Given the description of an element on the screen output the (x, y) to click on. 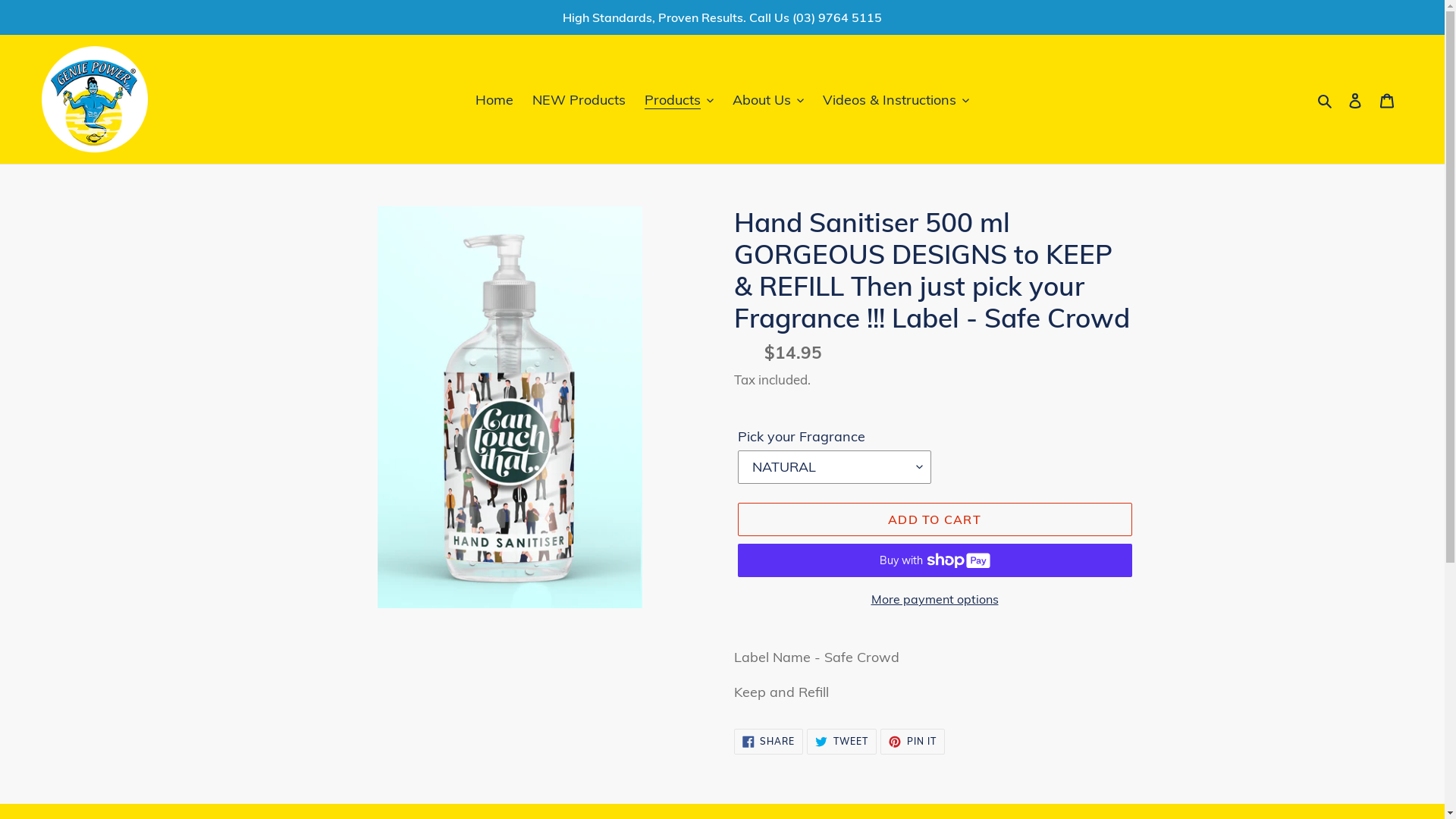
About Us Element type: text (767, 98)
Cart Element type: text (1386, 99)
Products Element type: text (679, 98)
ADD TO CART Element type: text (934, 519)
Videos & Instructions Element type: text (895, 98)
Search Element type: text (1325, 98)
More payment options Element type: text (934, 598)
NEW Products Element type: text (578, 98)
SHARE
SHARE ON FACEBOOK Element type: text (768, 741)
PIN IT
PIN ON PINTEREST Element type: text (912, 741)
TWEET
TWEET ON TWITTER Element type: text (841, 741)
Log in Element type: text (1355, 99)
Home Element type: text (493, 98)
